Given the description of an element on the screen output the (x, y) to click on. 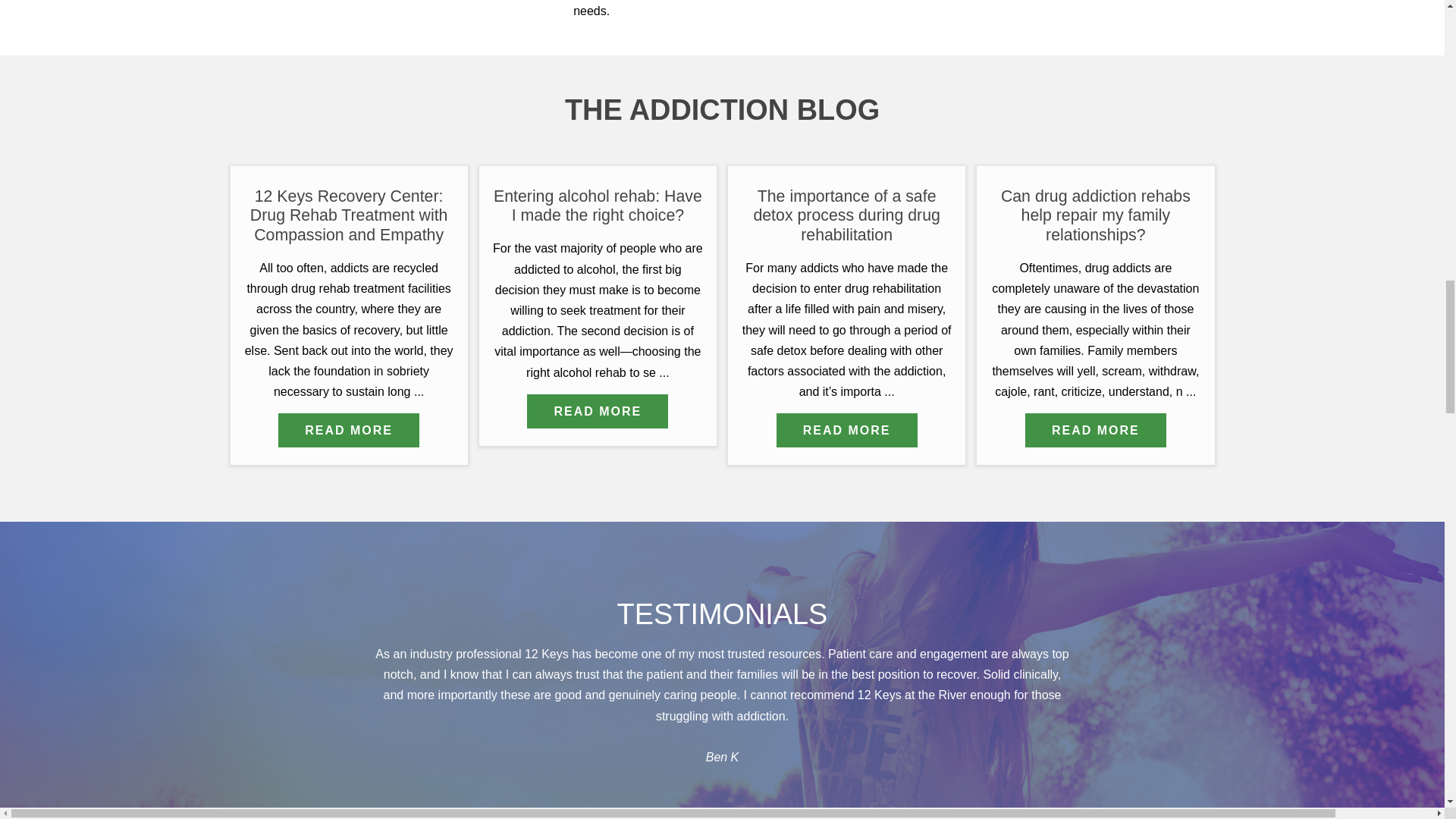
Entering alcohol rehab: Have I made the right choice? (597, 410)
Entering alcohol rehab: Have I made the right choice? (598, 206)
